Given the description of an element on the screen output the (x, y) to click on. 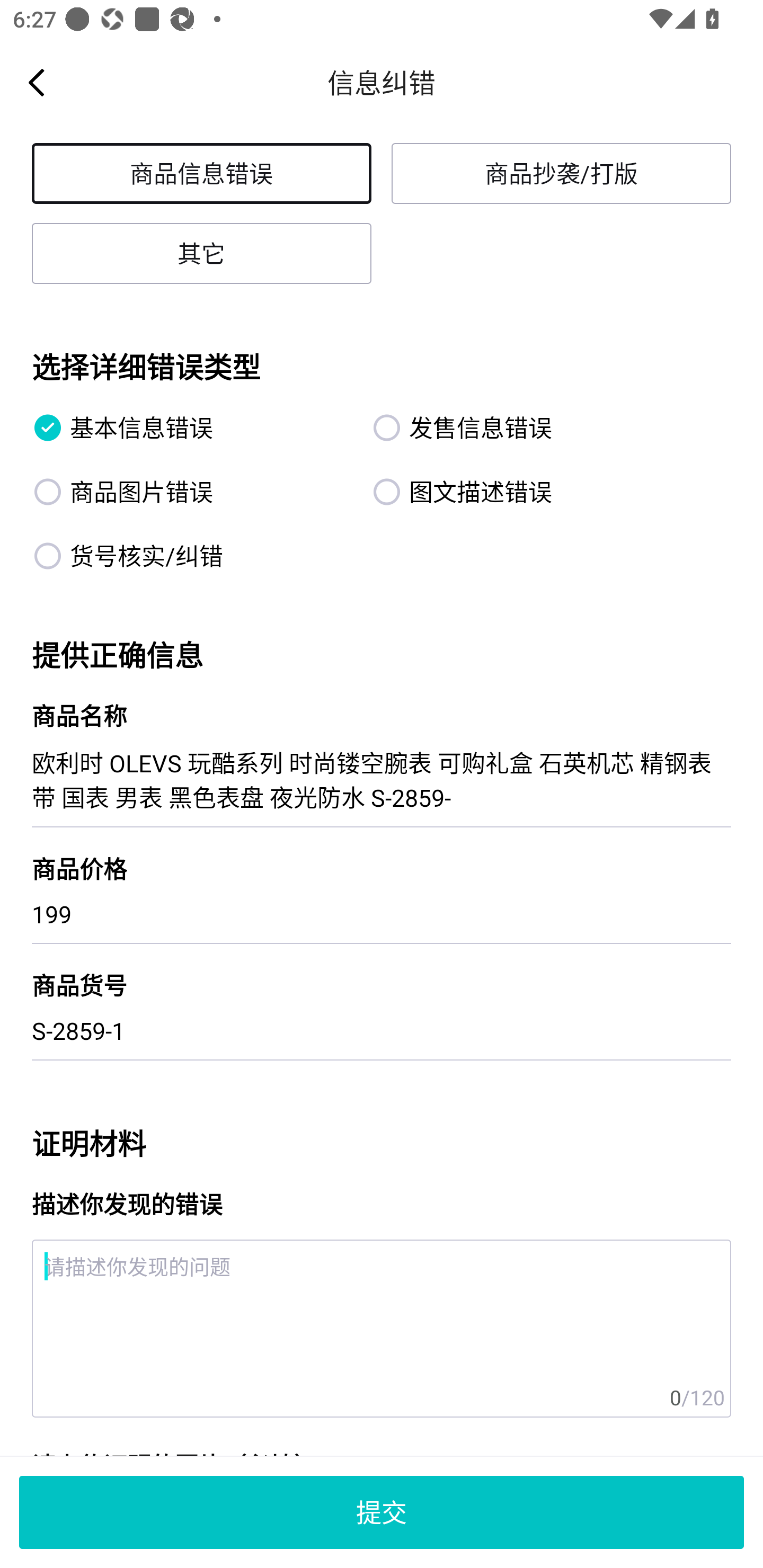
Navigate up (36, 82)
商品信息错误 (201, 172)
商品抄袭/打版 (560, 172)
其它 (201, 252)
 基本信息错误 (191, 426)
 发售信息错误 (530, 426)
 商品图片错误 (191, 491)
 图文描述错误 (530, 491)
 货号核实/纠错 (191, 555)
199 (381, 913)
S-2859-1 (381, 1030)
请描述你发现的问题 (381, 1328)
提交 (381, 1512)
